Given the description of an element on the screen output the (x, y) to click on. 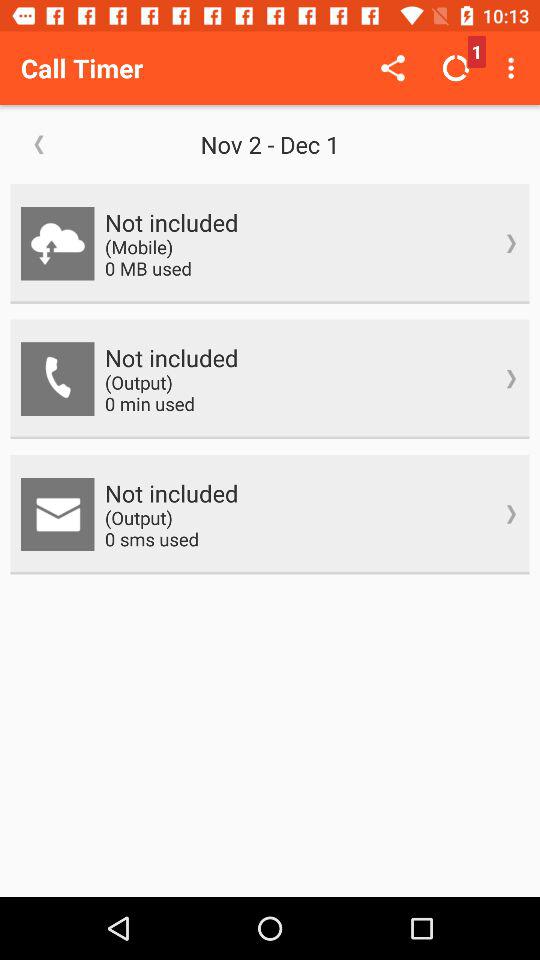
click on phone image (58, 378)
